Given the description of an element on the screen output the (x, y) to click on. 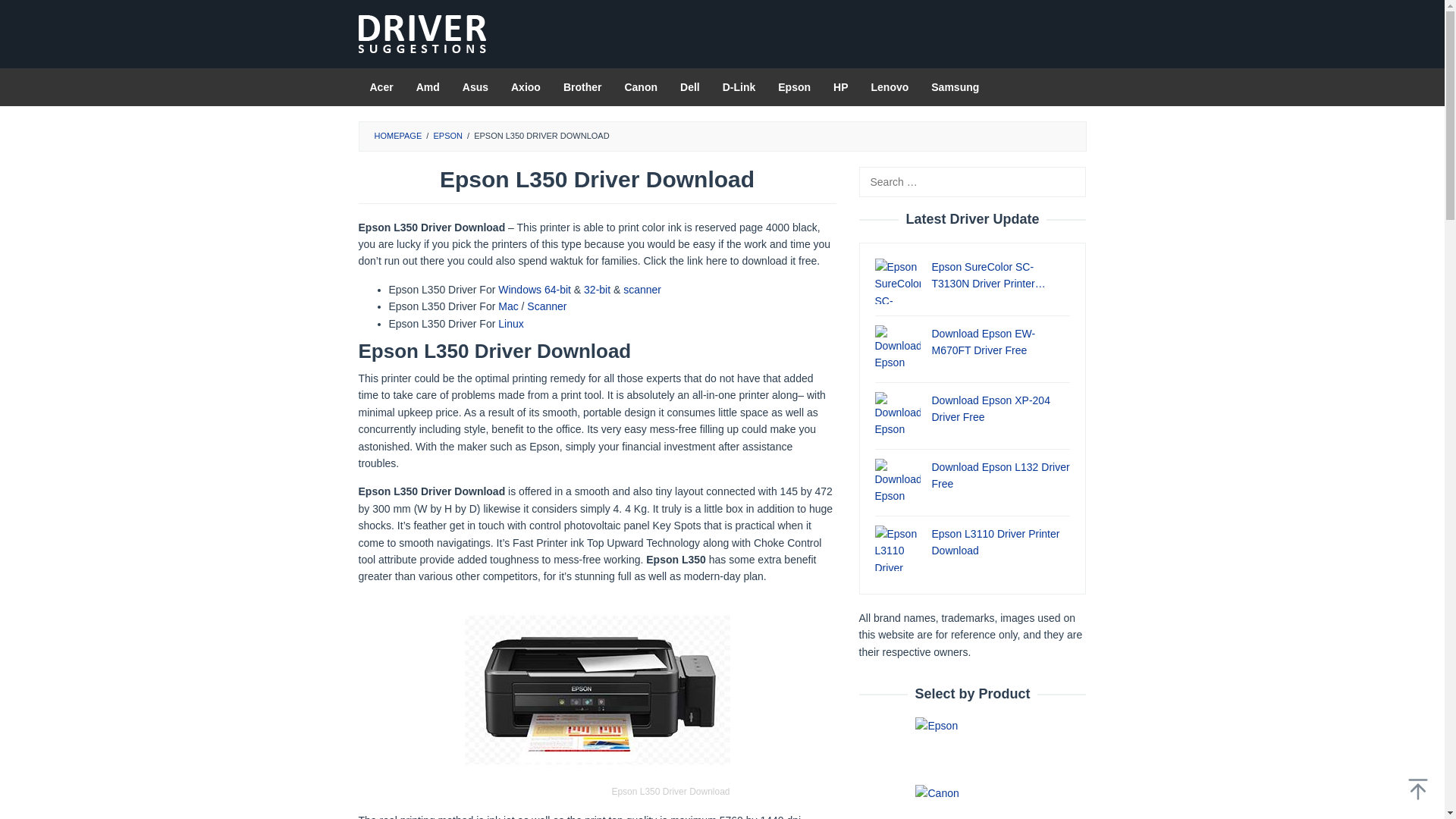
Axioo (525, 86)
Brother (581, 86)
Driver Suggestions (421, 33)
HP (840, 86)
HOMEPAGE (398, 135)
Amd (427, 86)
Scanner (546, 306)
Windows 64-bit (533, 289)
scanner (642, 289)
Canon (640, 86)
Driver Suggestions (421, 34)
Lenovo (890, 86)
Asus (475, 86)
32-bit (596, 289)
